Given the description of an element on the screen output the (x, y) to click on. 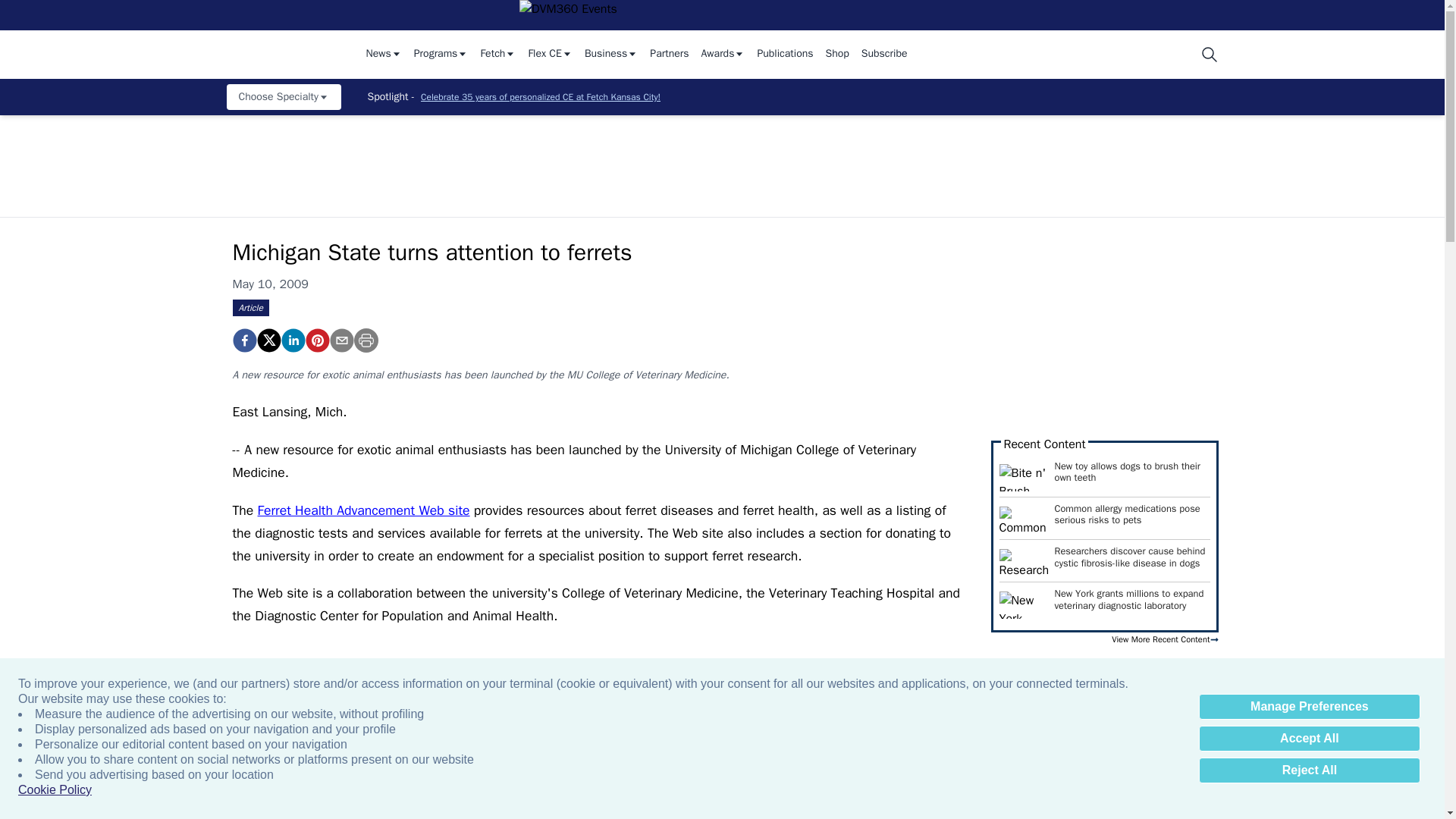
Cookie Policy (54, 789)
A dive into Dr Vernard's love for koi fish (671, 787)
News (383, 54)
Michigan State turns attention to ferrets (243, 340)
Triaging avian emergencies  (507, 787)
Overcoming the biggest challenge in avian critical care (999, 787)
Making waves in sea turtle conservation  (1326, 787)
Managing common avian emergencies (835, 787)
Administering anesthesia to lion patients  (343, 787)
Fetch (497, 54)
